Given the description of an element on the screen output the (x, y) to click on. 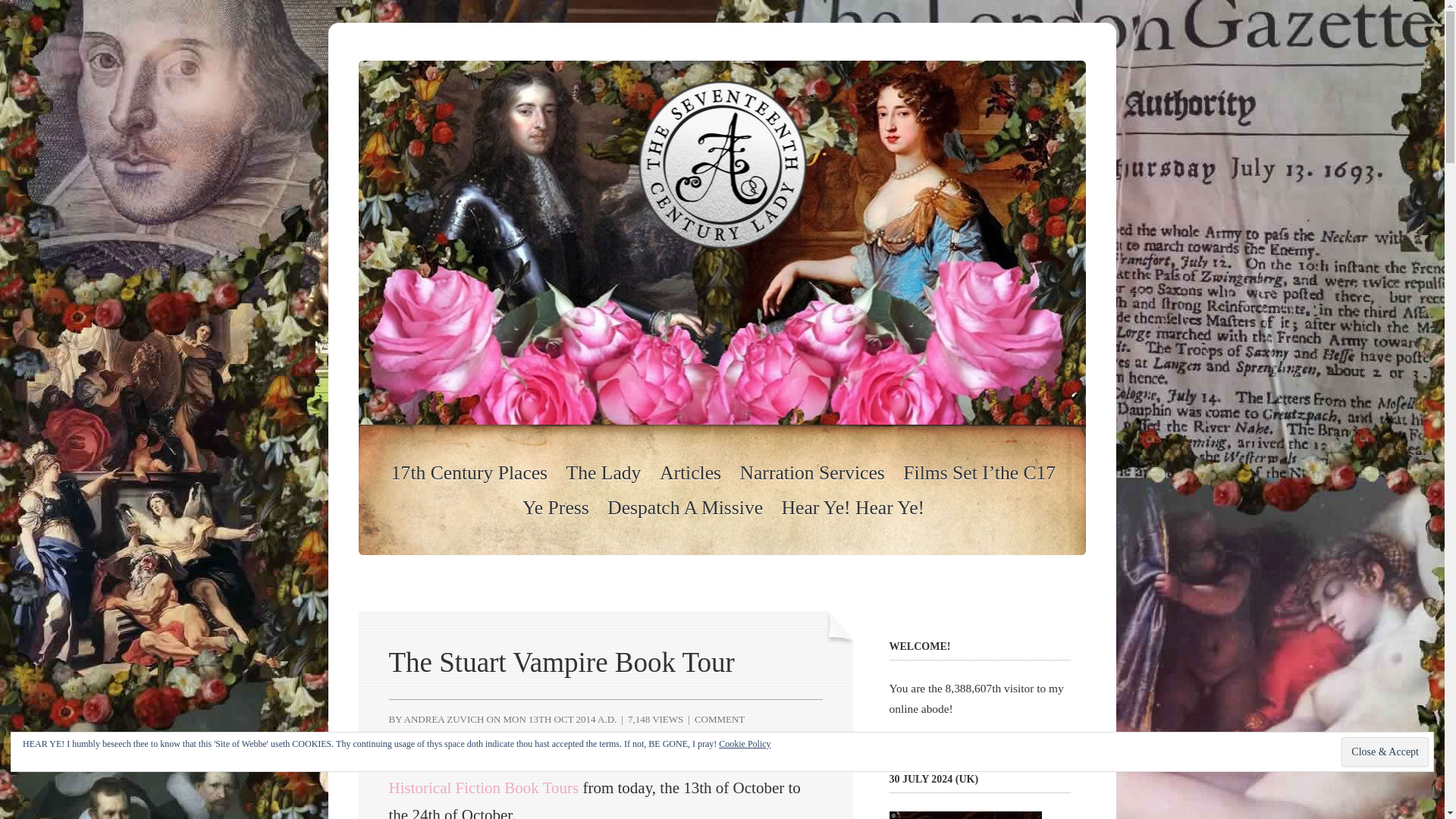
11:04 PM (560, 718)
Ye Press (555, 507)
Hear Ye! Hear Ye! (852, 507)
COMMENT (719, 718)
The Seventeenth Century Lady (722, 420)
Despatch A Missive (684, 507)
17th Century Places (469, 473)
MON 13TH OCT 2014 A.D. (560, 718)
Articles (689, 473)
Historical Fiction Book Tours (483, 787)
Narration Services (812, 473)
The Lady (604, 473)
